Given the description of an element on the screen output the (x, y) to click on. 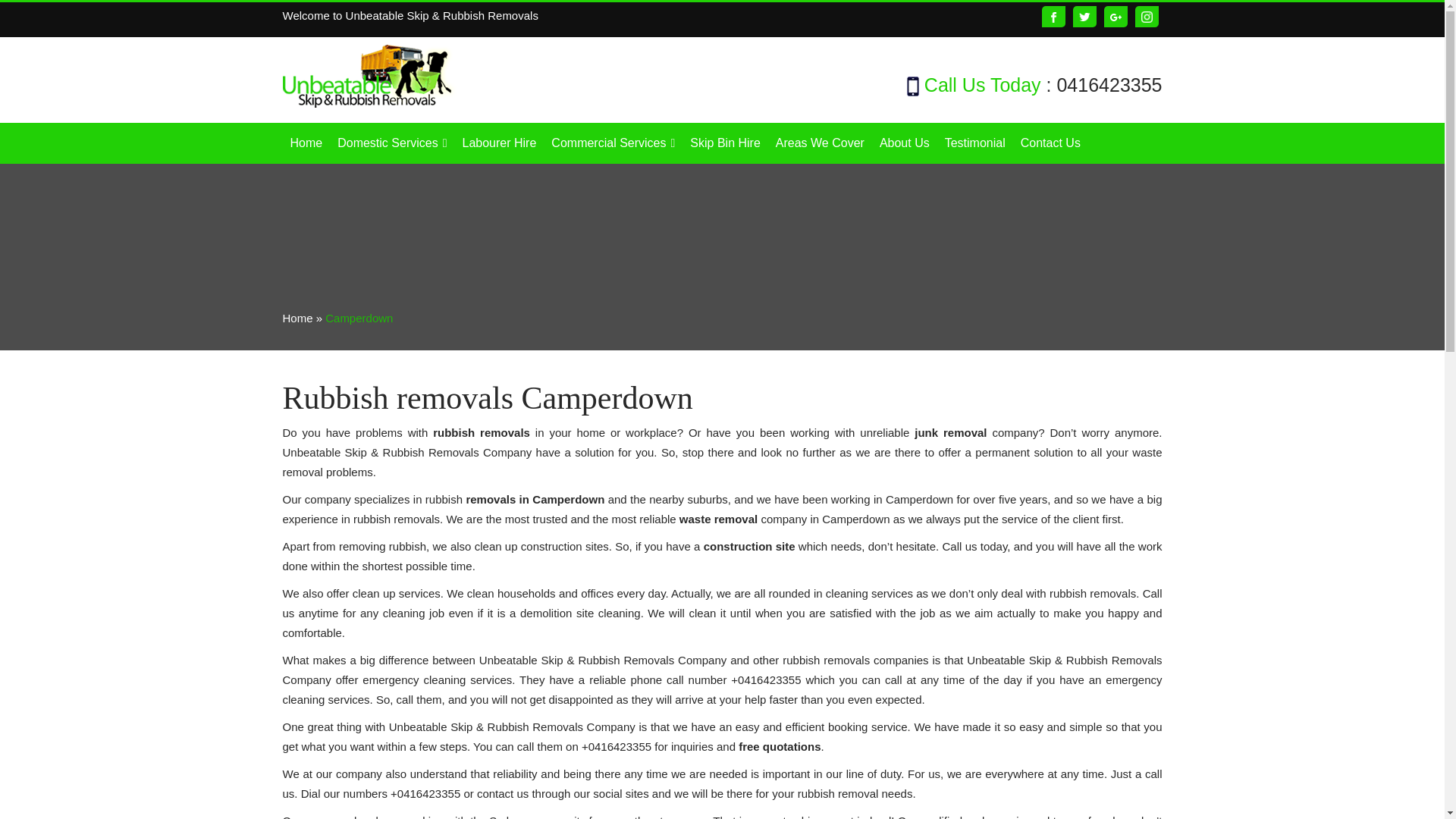
0416423355 (1109, 84)
Labourer Hire (499, 142)
Home (306, 142)
Commercial Services (612, 142)
Domestic Services (392, 142)
